Given the description of an element on the screen output the (x, y) to click on. 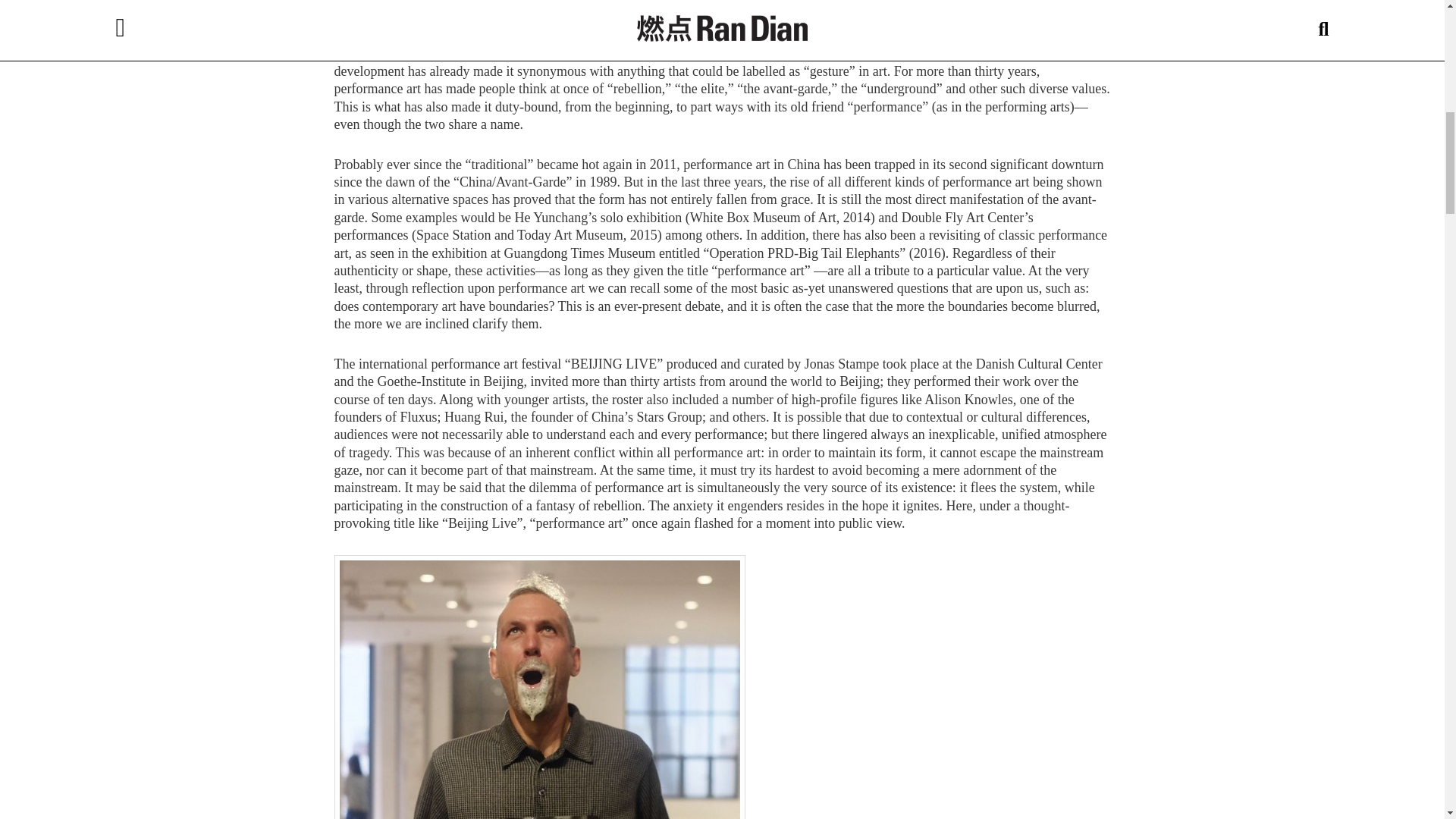
Danish Cultural Center (402, 1)
